Given the description of an element on the screen output the (x, y) to click on. 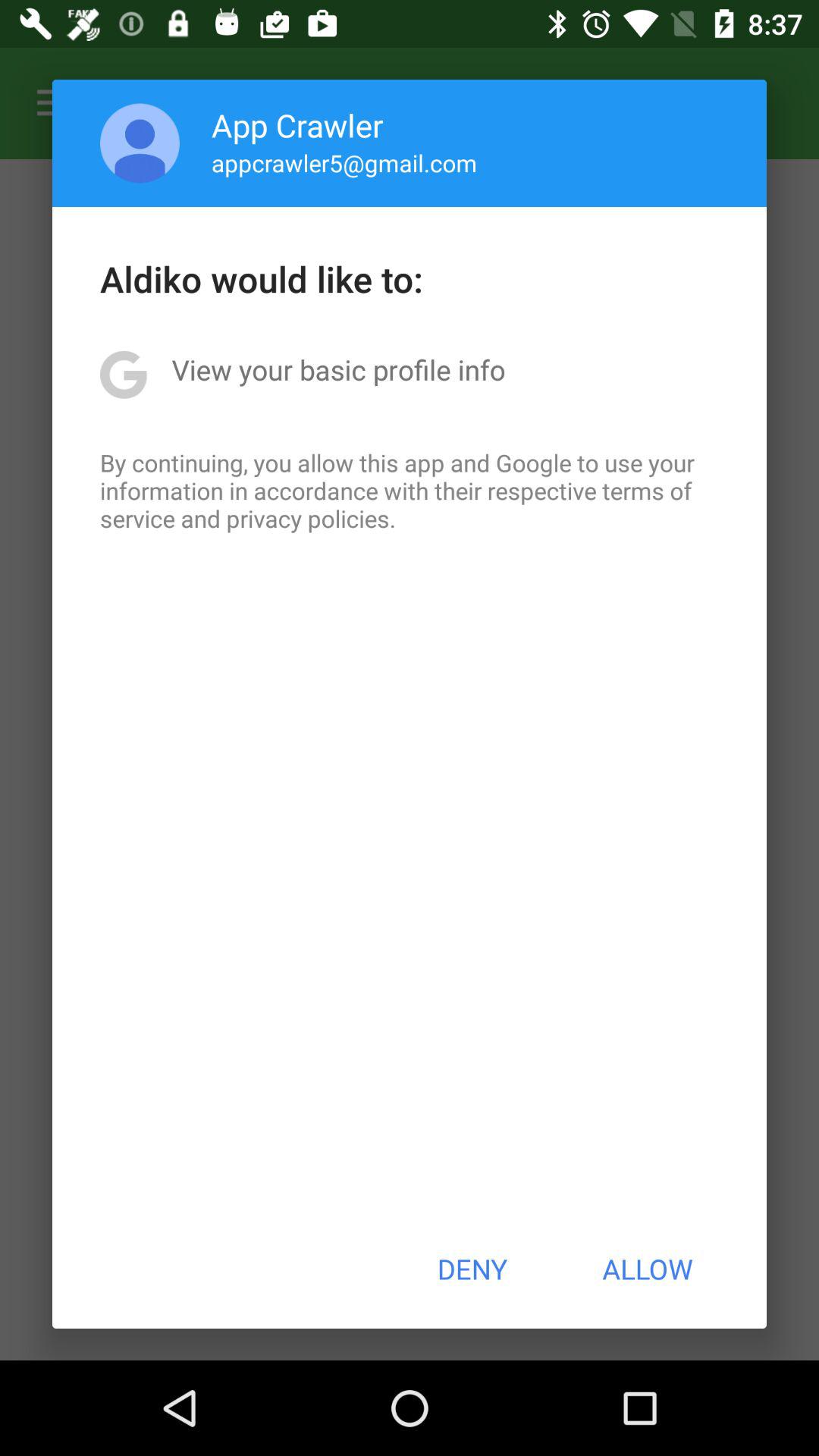
swipe to the view your basic icon (338, 369)
